Given the description of an element on the screen output the (x, y) to click on. 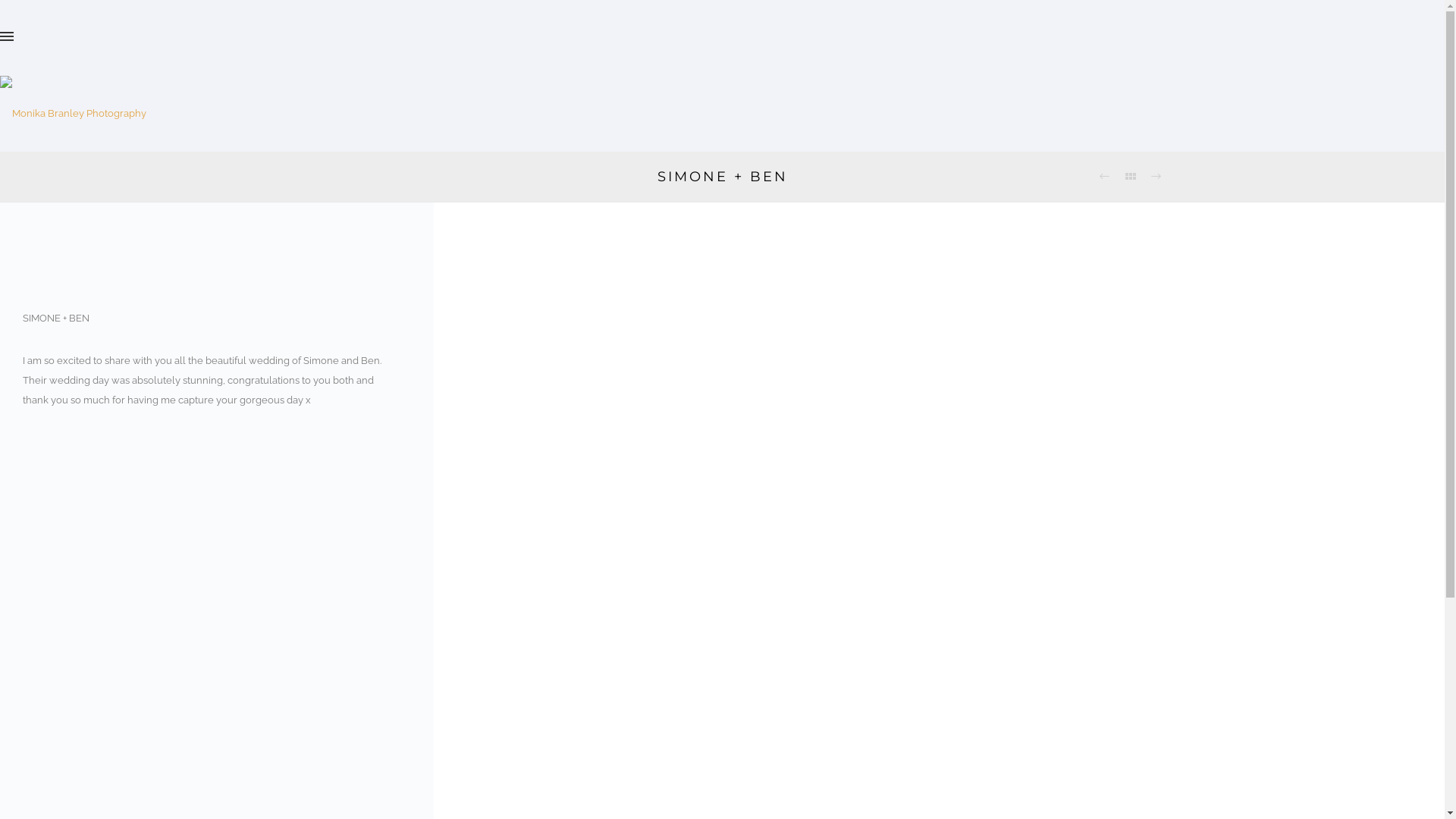
Hamburger Menu Controller Element type: hover (6, 37)
